Given the description of an element on the screen output the (x, y) to click on. 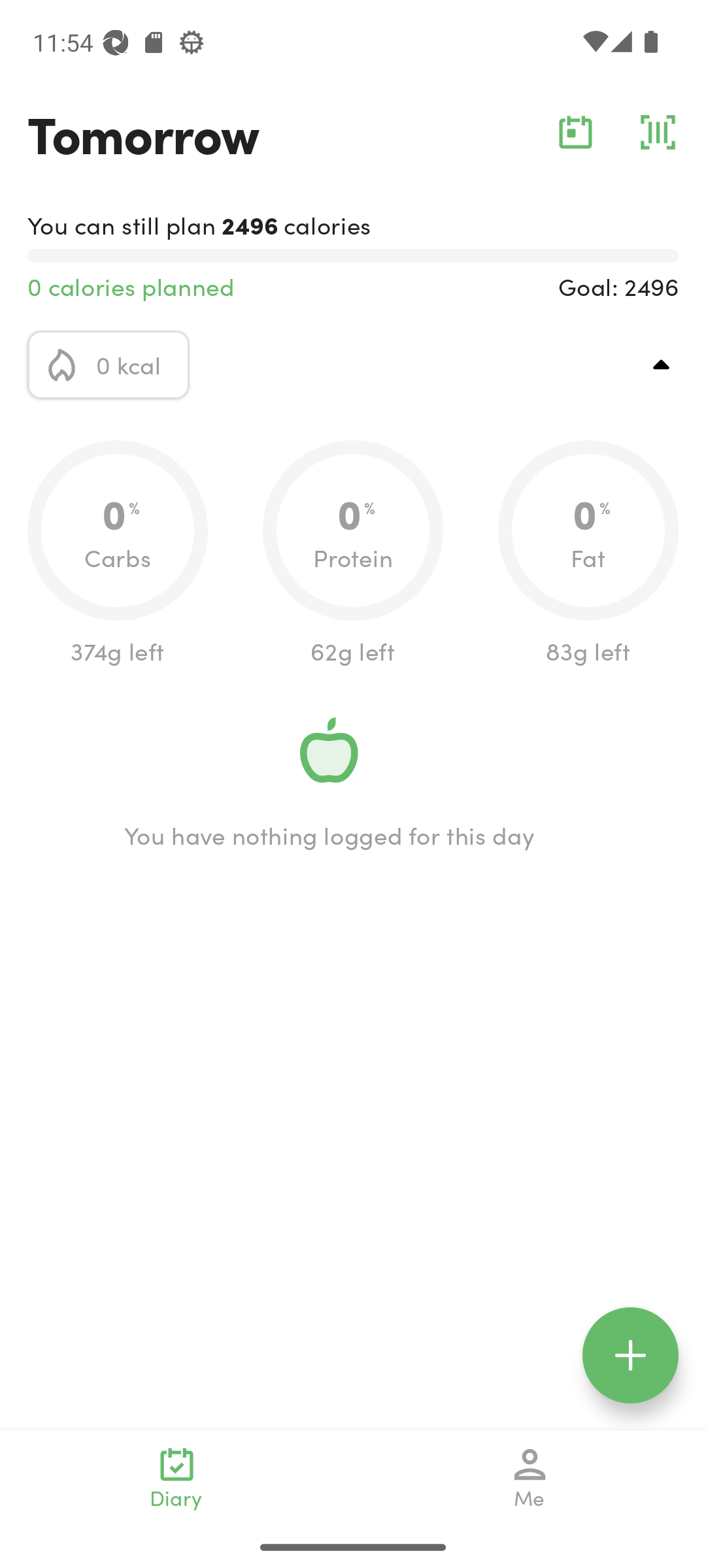
calendar_action (575, 132)
barcode_action (658, 132)
calorie_icon 0 kcal (108, 365)
top_right_action (661, 365)
0.0 0 % Carbs 374g left (117, 553)
0.0 0 % Protein 62g left (352, 553)
0.0 0 % Fat 83g left (588, 553)
floating_action_icon (630, 1355)
Me navigation_icon (529, 1478)
